Given the description of an element on the screen output the (x, y) to click on. 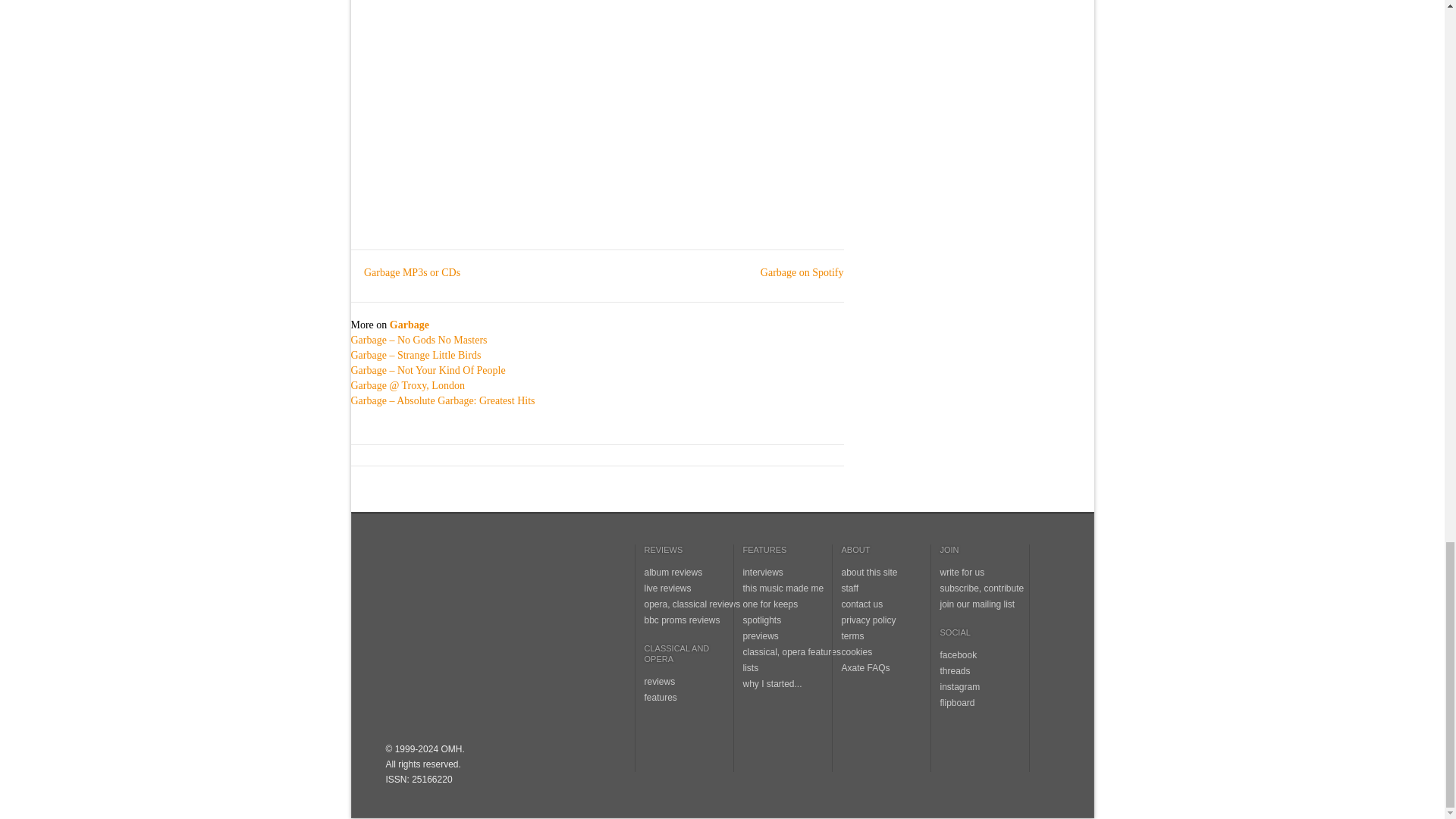
album reviews (674, 572)
Garbage (409, 324)
opera, classical reviews (693, 603)
Garbage on Spotify (794, 272)
live reviews (668, 588)
Garbage MP3s or CDs (405, 272)
